Given the description of an element on the screen output the (x, y) to click on. 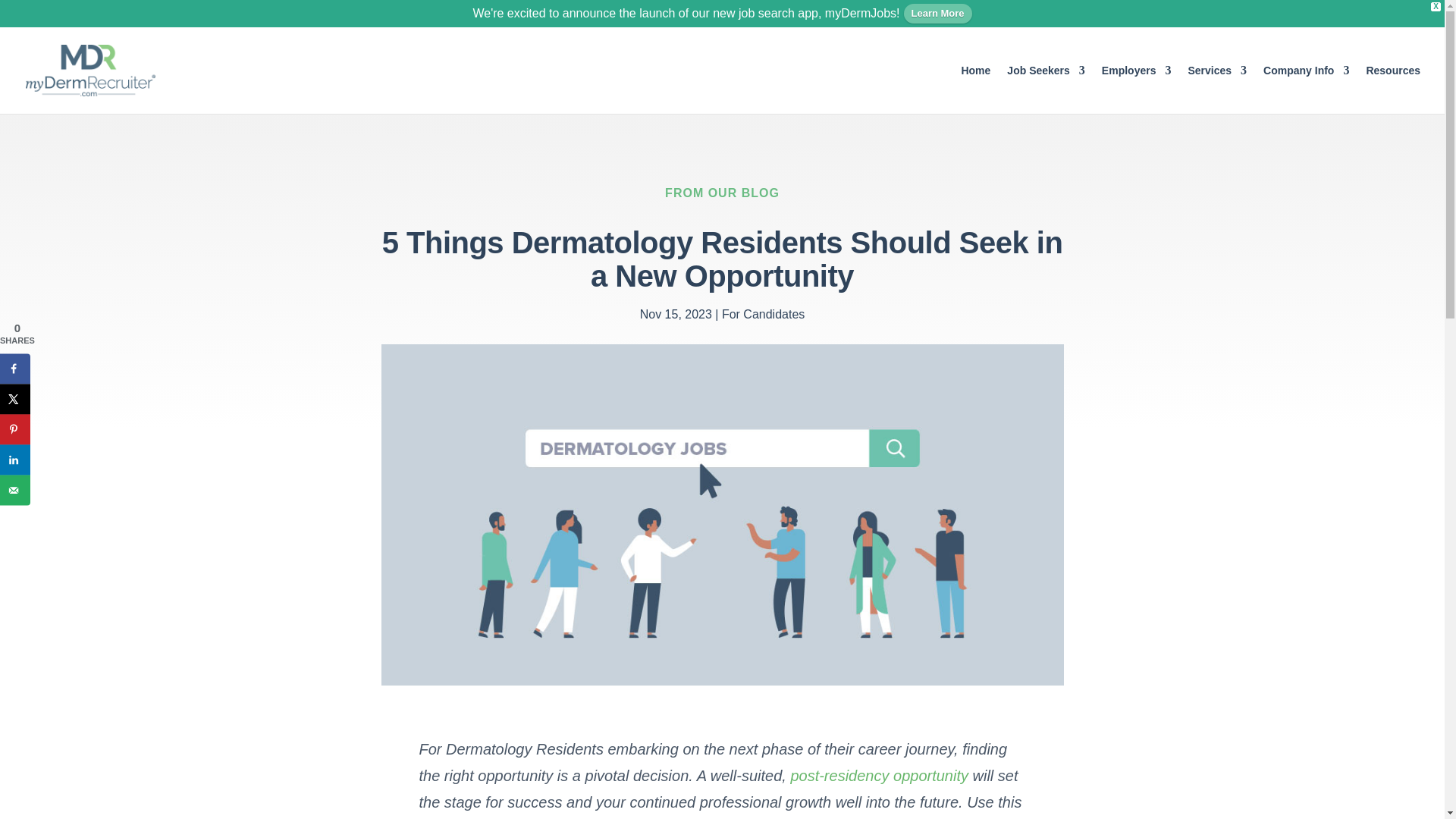
post-residency opportunity (879, 775)
Send over email (15, 490)
Job Seekers (1045, 89)
Learn More (938, 13)
Save to Pinterest (15, 429)
For Candidates (763, 314)
Share on LinkedIn (15, 459)
Services (1217, 89)
Share on X (15, 399)
Company Info (1306, 89)
Resources (1393, 89)
Employers (1137, 89)
Share on Facebook (15, 368)
